Given the description of an element on the screen output the (x, y) to click on. 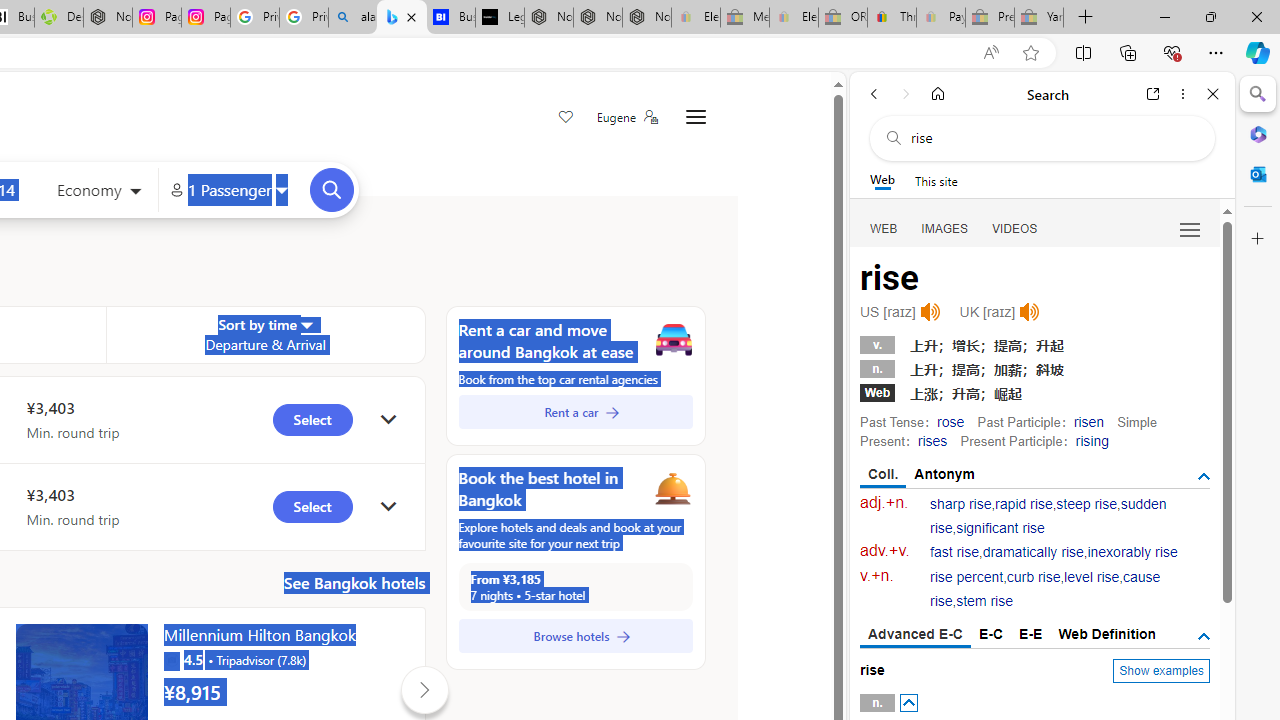
rise percent (966, 577)
Rent a car (575, 412)
click to get details (388, 506)
Select class of service (98, 192)
fast rise (955, 552)
Sort by time Sorter Departure & Arrival (265, 334)
AutomationID: tgdef (1203, 636)
E-C (991, 633)
Eugene (626, 117)
significant rise (1000, 528)
Class: b_serphb (1190, 229)
